Given the description of an element on the screen output the (x, y) to click on. 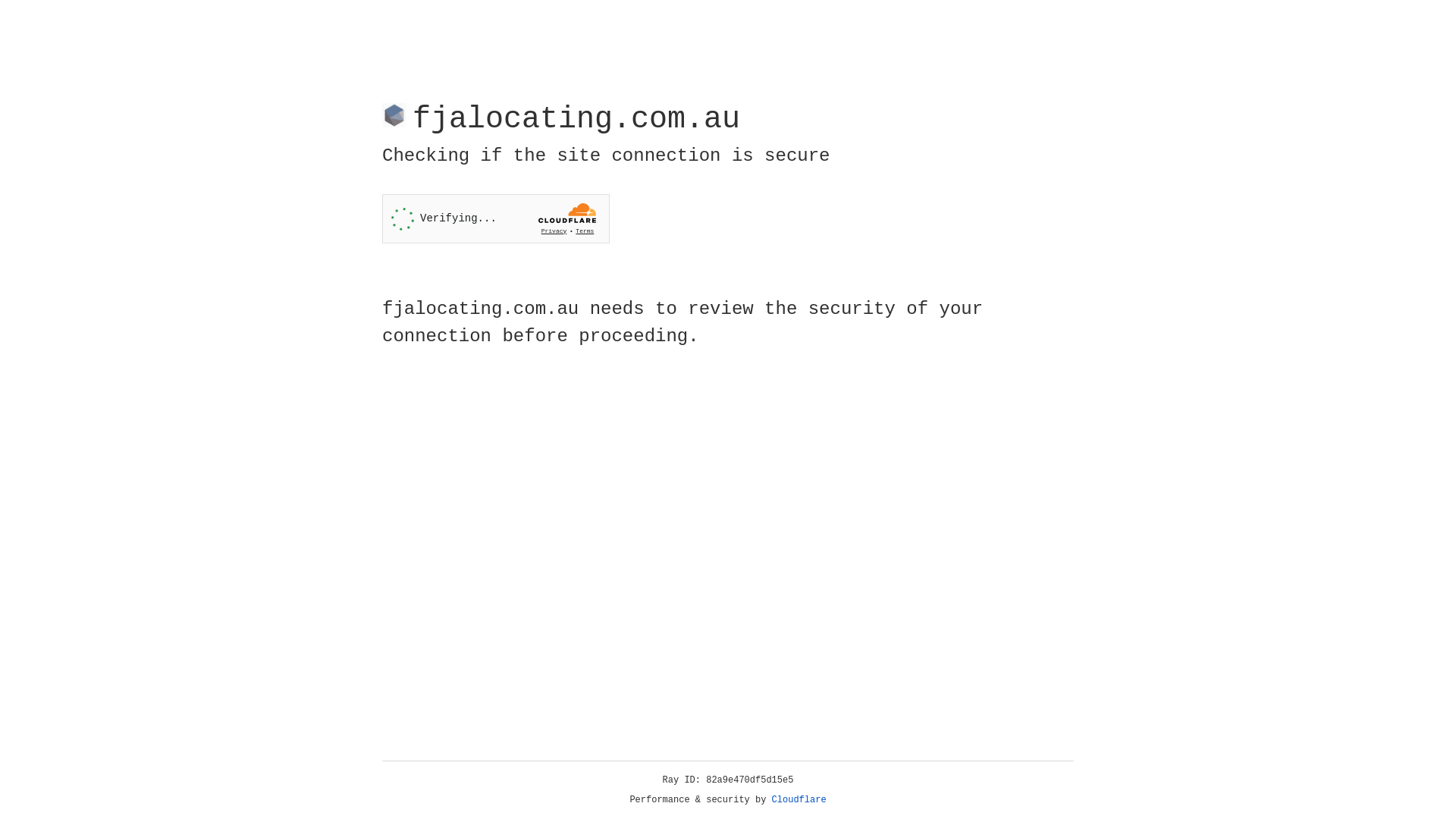
Widget containing a Cloudflare security challenge Element type: hover (495, 218)
Cloudflare Element type: text (798, 799)
